Given the description of an element on the screen output the (x, y) to click on. 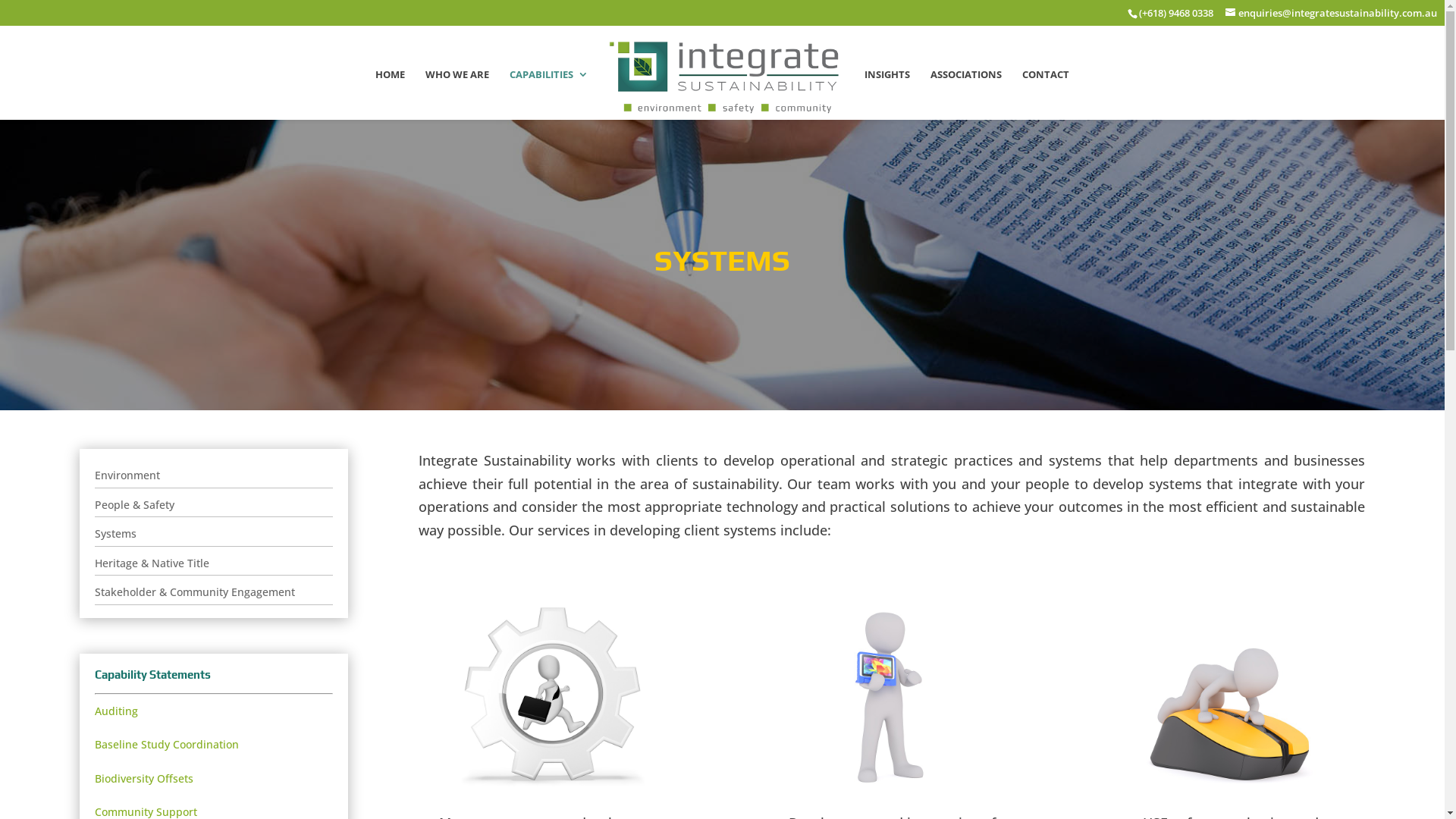
Auditing Element type: text (116, 710)
CONTACT Element type: text (1045, 93)
INSIGHTS Element type: text (887, 93)
ASSOCIATIONS Element type: text (965, 93)
Heritage & Native Title Element type: text (213, 564)
HOME Element type: text (389, 93)
enquiries@integratesustainability.com.au Element type: text (1334, 12)
WHO WE ARE Element type: text (456, 93)
People & Safety Element type: text (213, 505)
Baseline Study Coordination Element type: text (166, 744)
Systems Element type: text (213, 534)
Stakeholder & Community Engagement Element type: text (213, 592)
Biodiversity Offsets Element type: text (143, 778)
Environment Element type: text (213, 476)
CAPABILITIES Element type: text (548, 93)
